Given the description of an element on the screen output the (x, y) to click on. 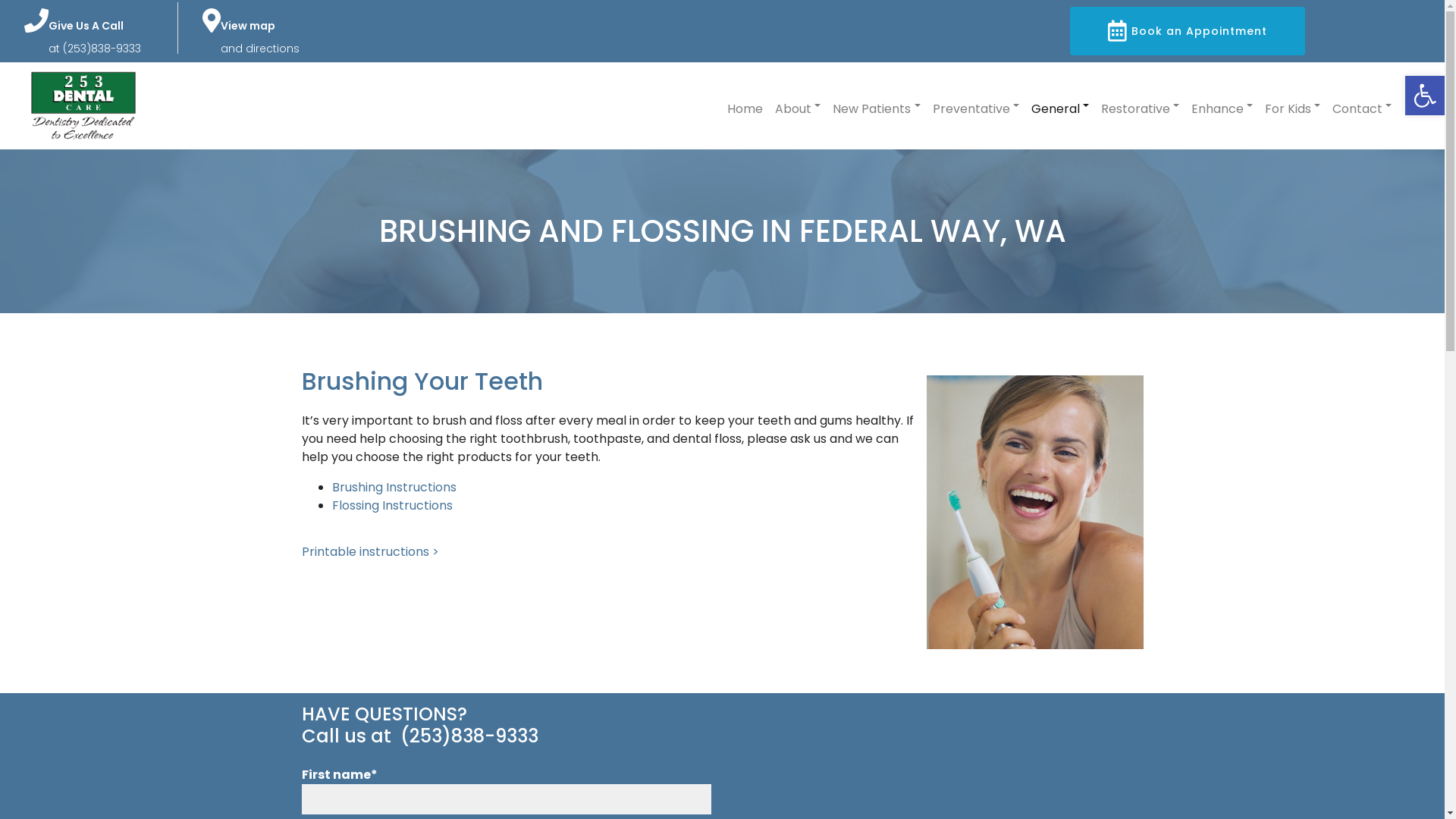
Restorative Element type: text (1140, 105)
Book an Appointment Element type: text (1187, 30)
New Patients Element type: text (875, 105)
Open toolbar
Accessibility Tools Element type: text (1424, 95)
For Kids Element type: text (1292, 105)
Flossing Instructions Element type: text (392, 505)
Enhance Element type: text (1221, 105)
Preventative Element type: text (975, 105)
Home Element type: text (744, 105)
Brushing Instructions Element type: text (394, 486)
View map
and directions Element type: text (259, 36)
Printable instructions > Element type: text (370, 551)
Contact Element type: text (1361, 105)
About Element type: text (797, 105)
Give Us A Call
at (253)838-9333 Element type: text (94, 36)
General Element type: text (1059, 105)
